Given the description of an element on the screen output the (x, y) to click on. 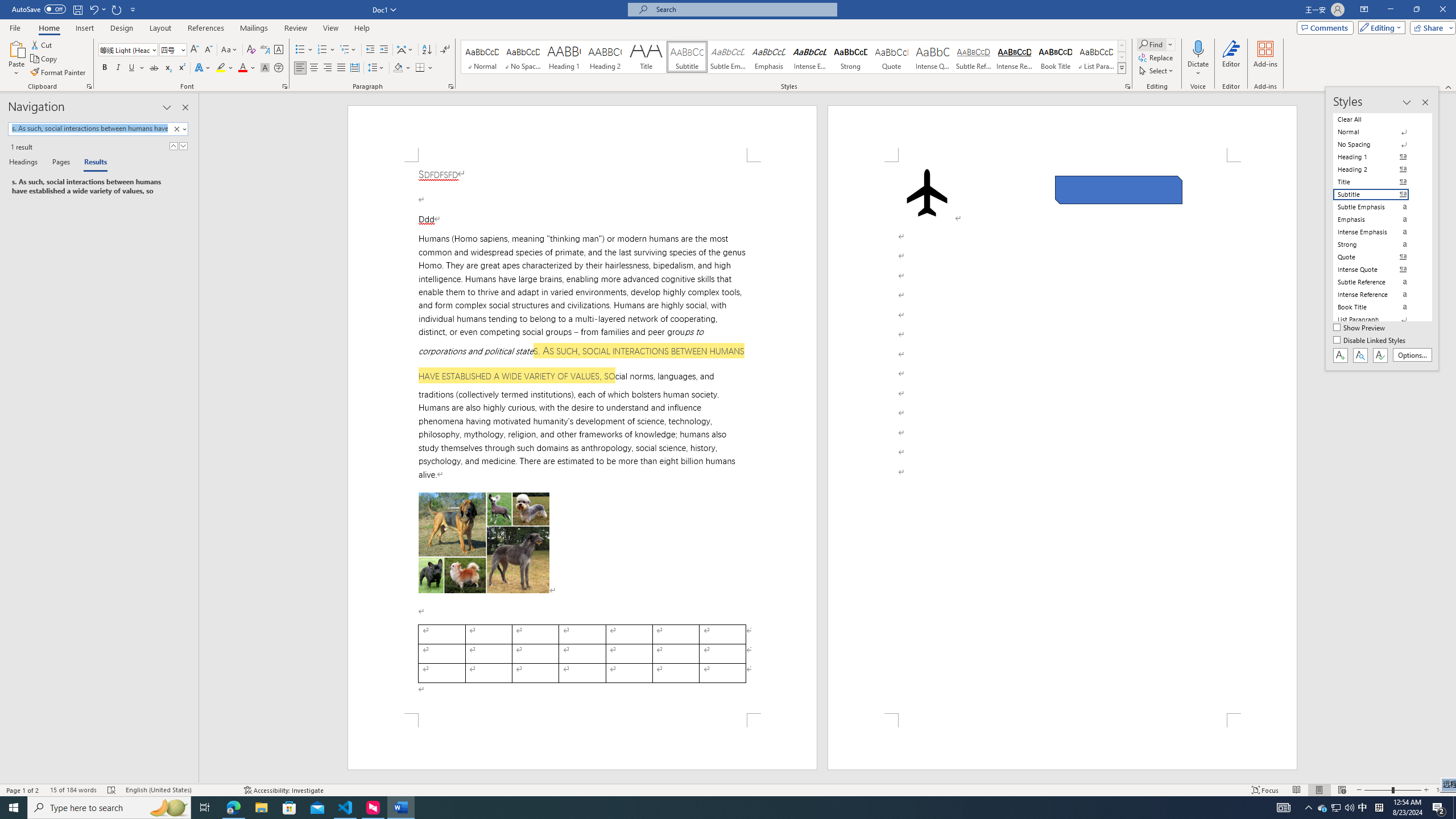
Show Preview (1360, 328)
Normal (1377, 131)
Rectangle: Diagonal Corners Snipped 2 (1118, 189)
